Given the description of an element on the screen output the (x, y) to click on. 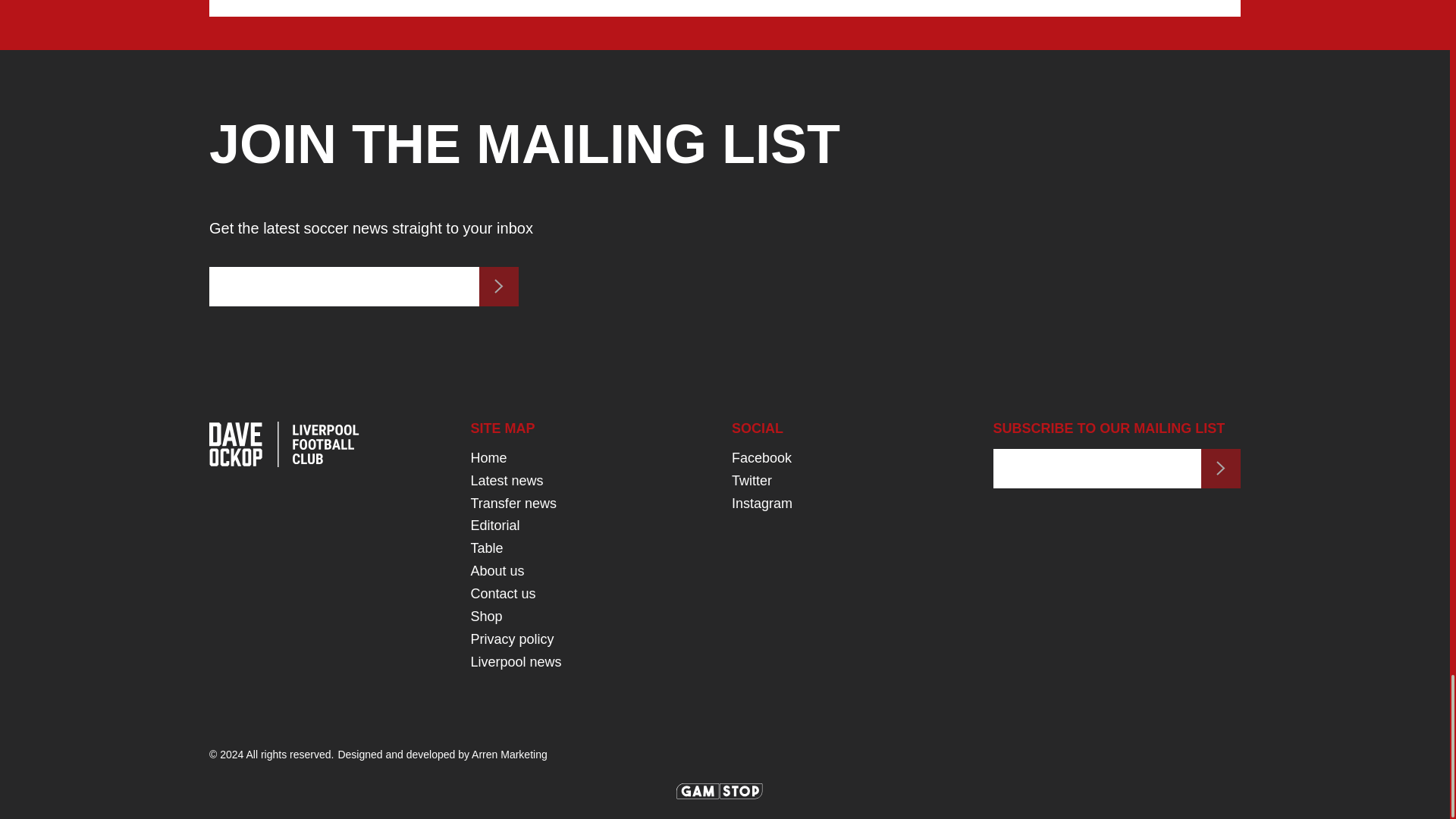
Transfer news (513, 503)
SUBSCRIBE (498, 286)
Editorial (494, 525)
Table (486, 548)
Latest news (506, 480)
Home (488, 458)
About us (497, 570)
